Given the description of an element on the screen output the (x, y) to click on. 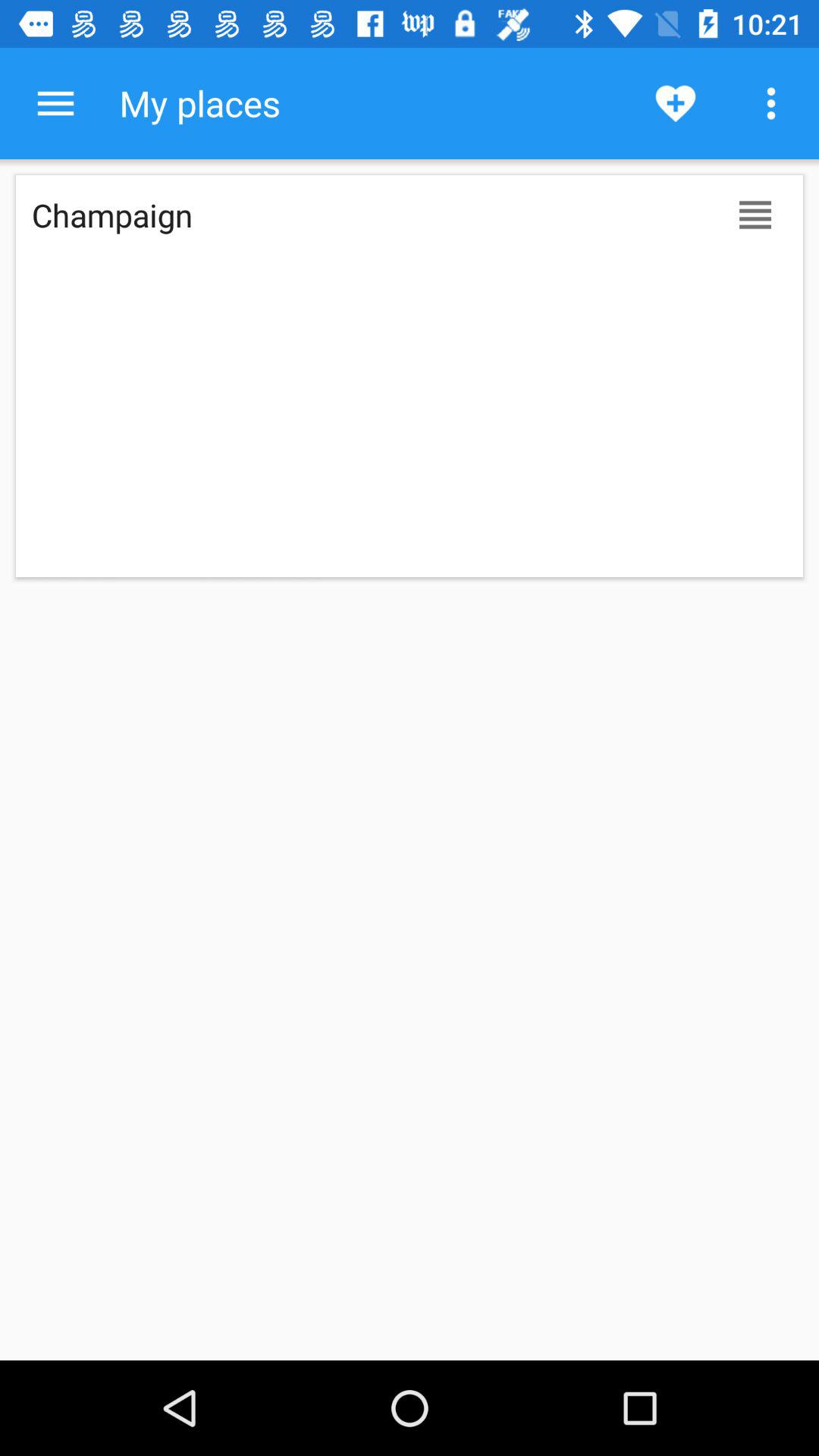
drop-down menu (55, 103)
